Given the description of an element on the screen output the (x, y) to click on. 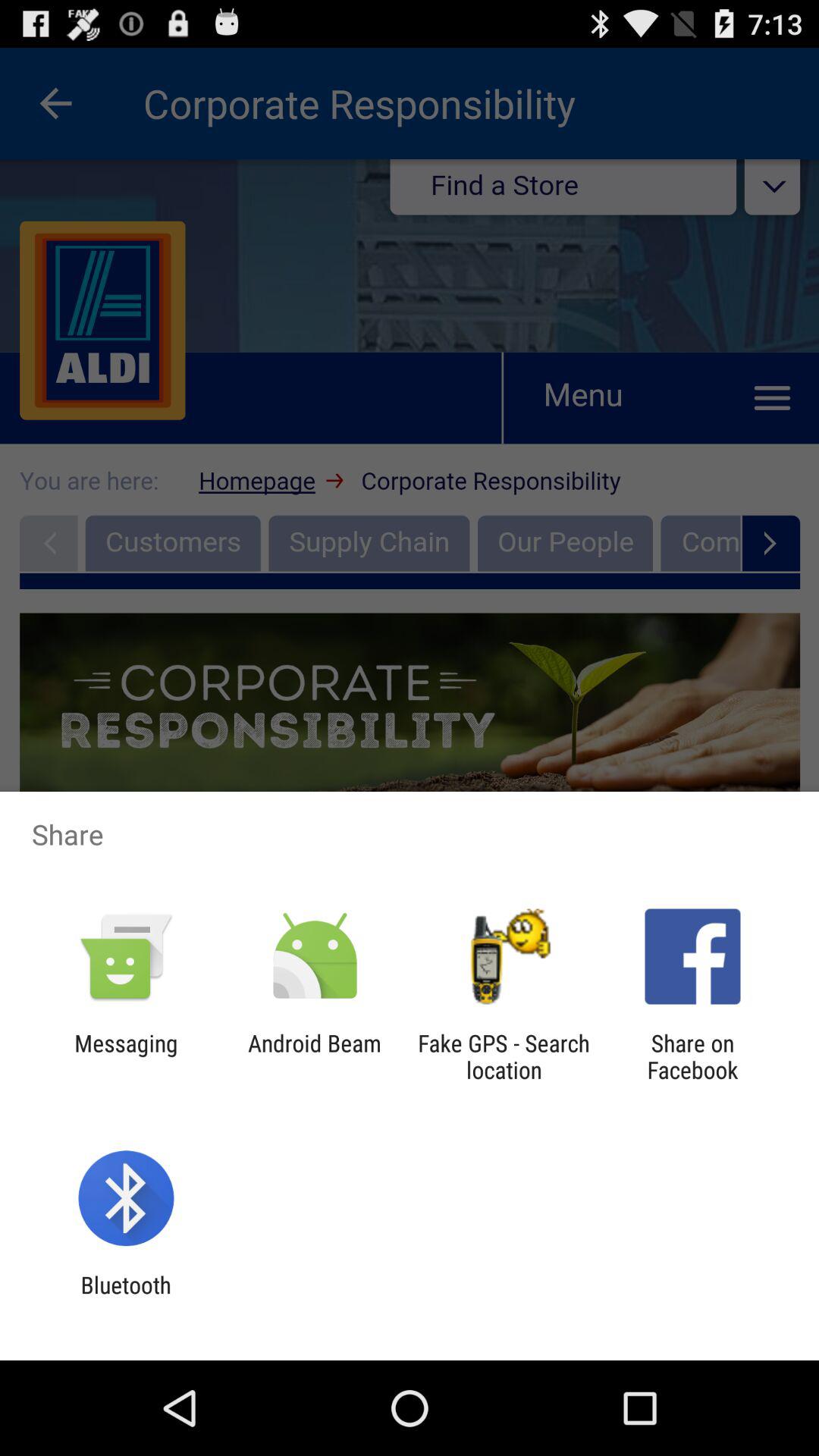
jump until share on facebook app (692, 1056)
